Given the description of an element on the screen output the (x, y) to click on. 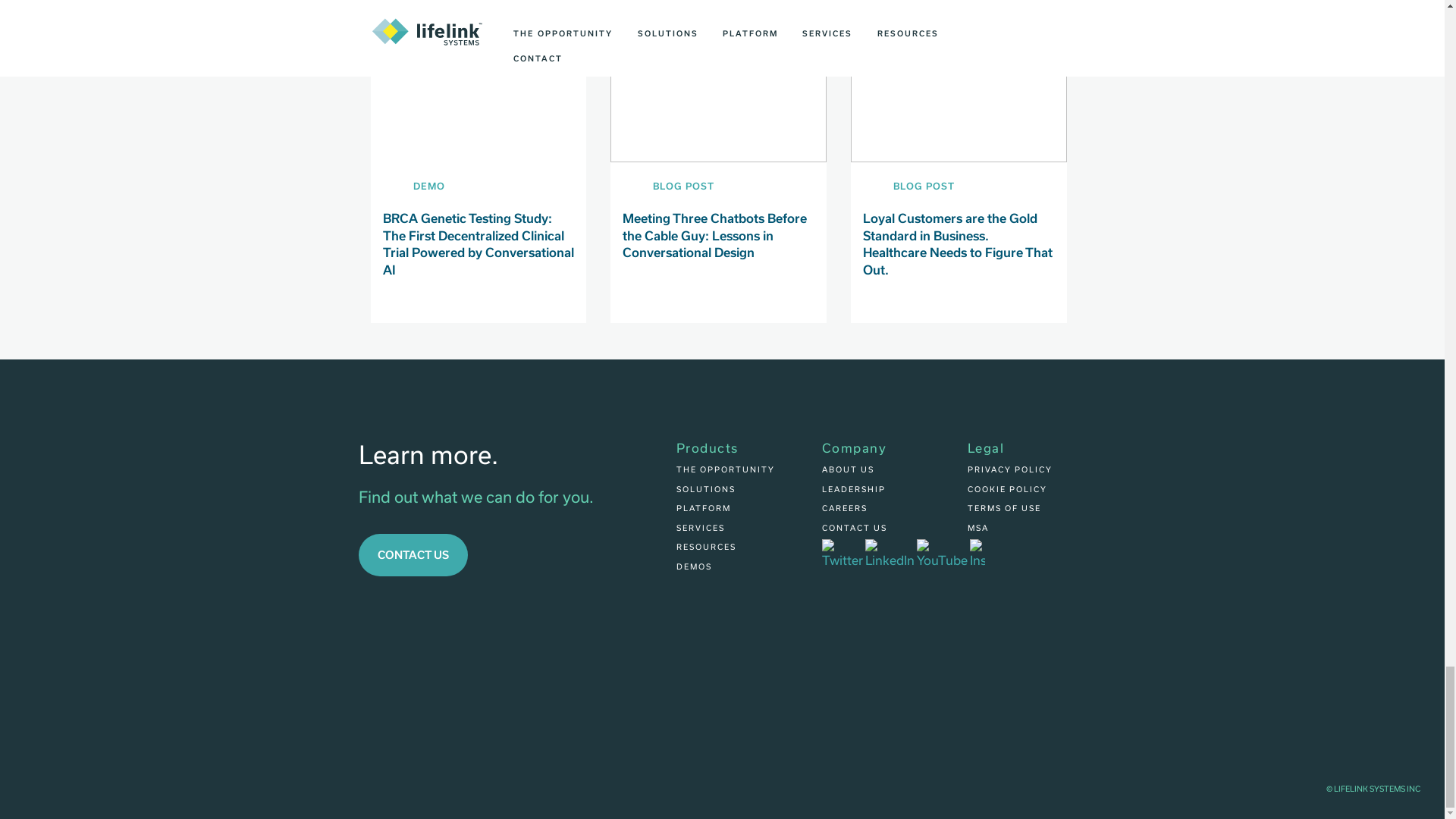
ABOUT US (848, 469)
LEADERSHIP (853, 488)
CONTACT US (412, 554)
RESOURCES (706, 546)
SERVICES (701, 527)
SOLUTIONS (706, 488)
PRIVACY POLICY (1010, 469)
MSA (978, 527)
THE OPPORTUNITY (725, 469)
DEMOS (694, 565)
CAREERS (844, 507)
CONTACT US (854, 527)
